Given the description of an element on the screen output the (x, y) to click on. 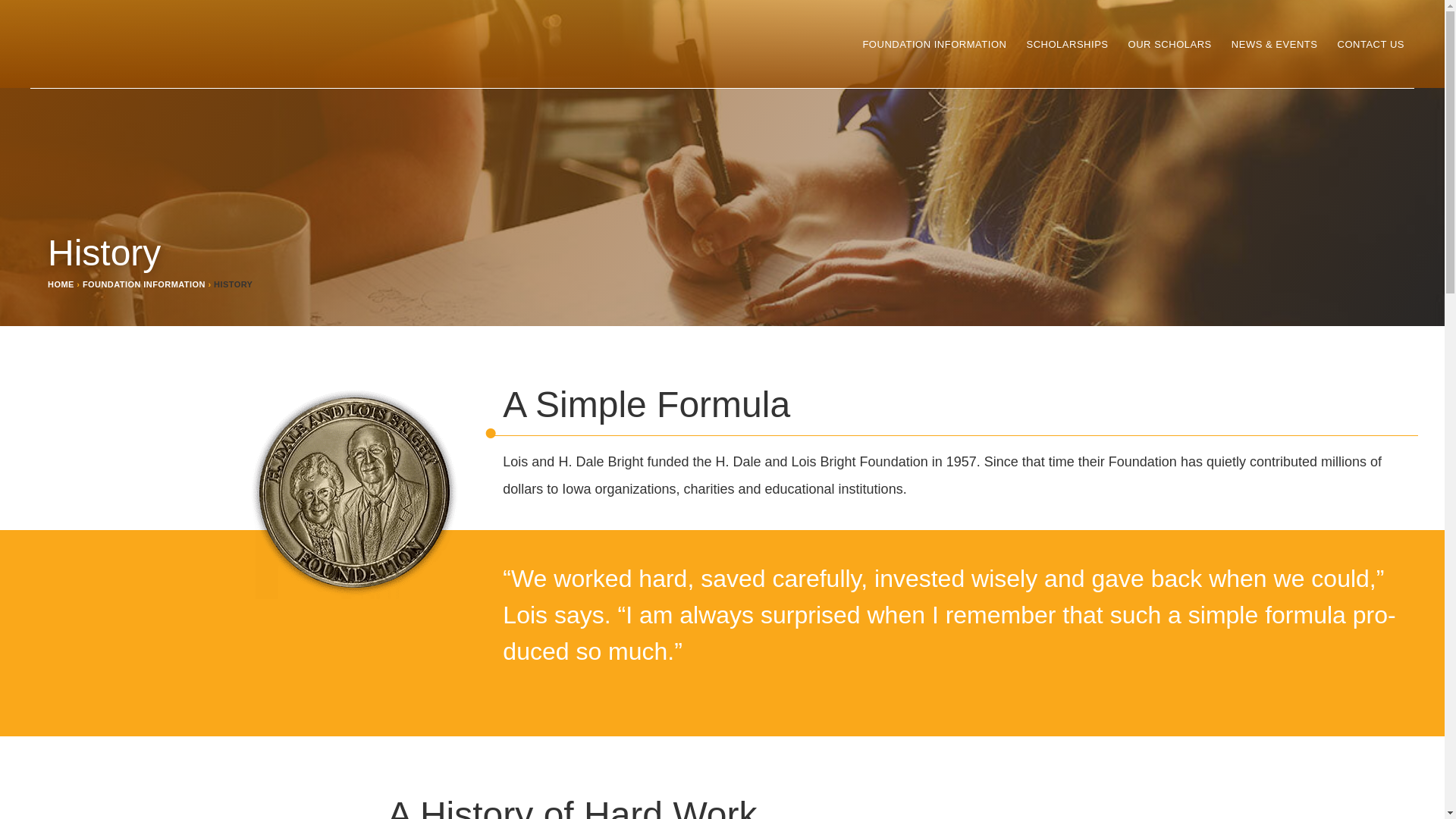
Bright Foundation (181, 44)
FOUNDATION INFORMATION (143, 284)
HOME (61, 284)
CONTACT US (1369, 43)
